Given the description of an element on the screen output the (x, y) to click on. 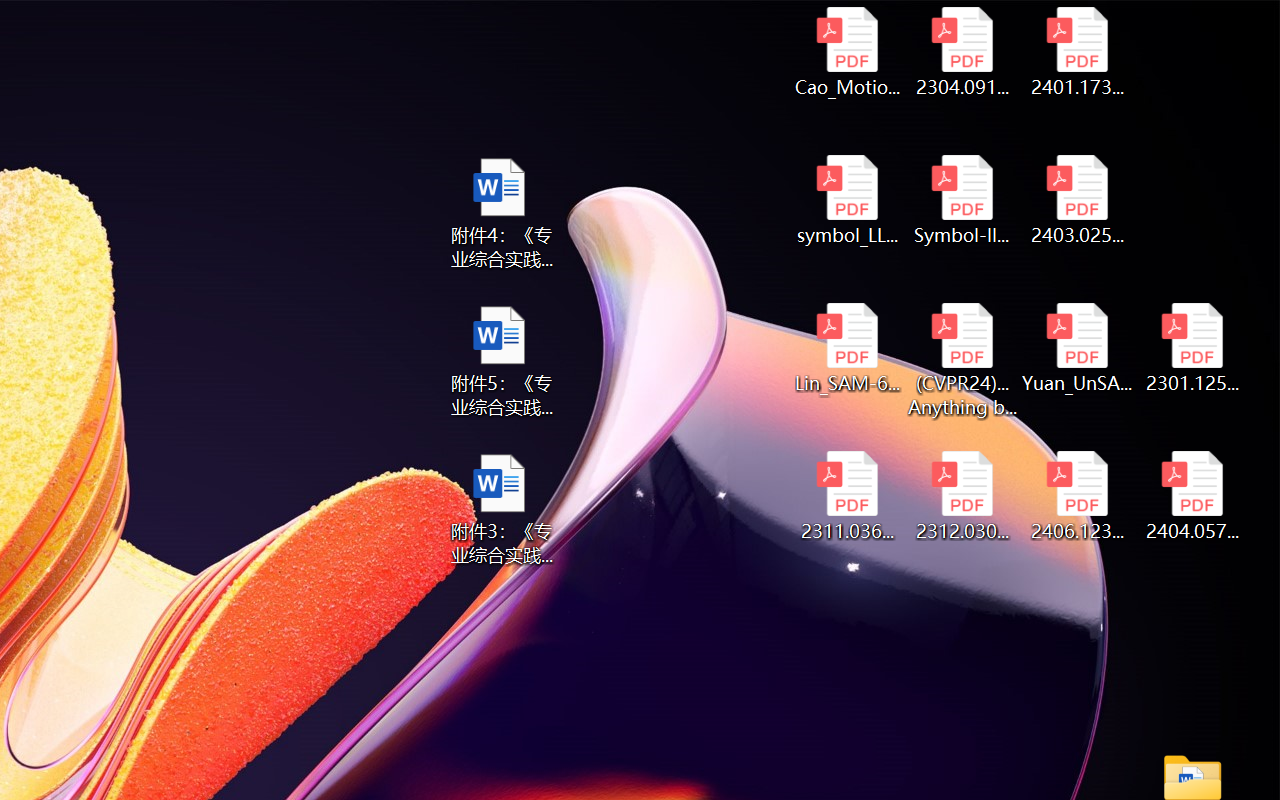
2312.03032v2.pdf (962, 496)
symbol_LLM.pdf (846, 200)
2301.12597v3.pdf (1192, 348)
(CVPR24)Matching Anything by Segmenting Anything.pdf (962, 360)
Symbol-llm-v2.pdf (962, 200)
2401.17399v1.pdf (1077, 52)
2403.02502v1.pdf (1077, 200)
2406.12373v2.pdf (1077, 496)
2404.05719v1.pdf (1192, 496)
2311.03658v2.pdf (846, 496)
2304.09121v3.pdf (962, 52)
